Given the description of an element on the screen output the (x, y) to click on. 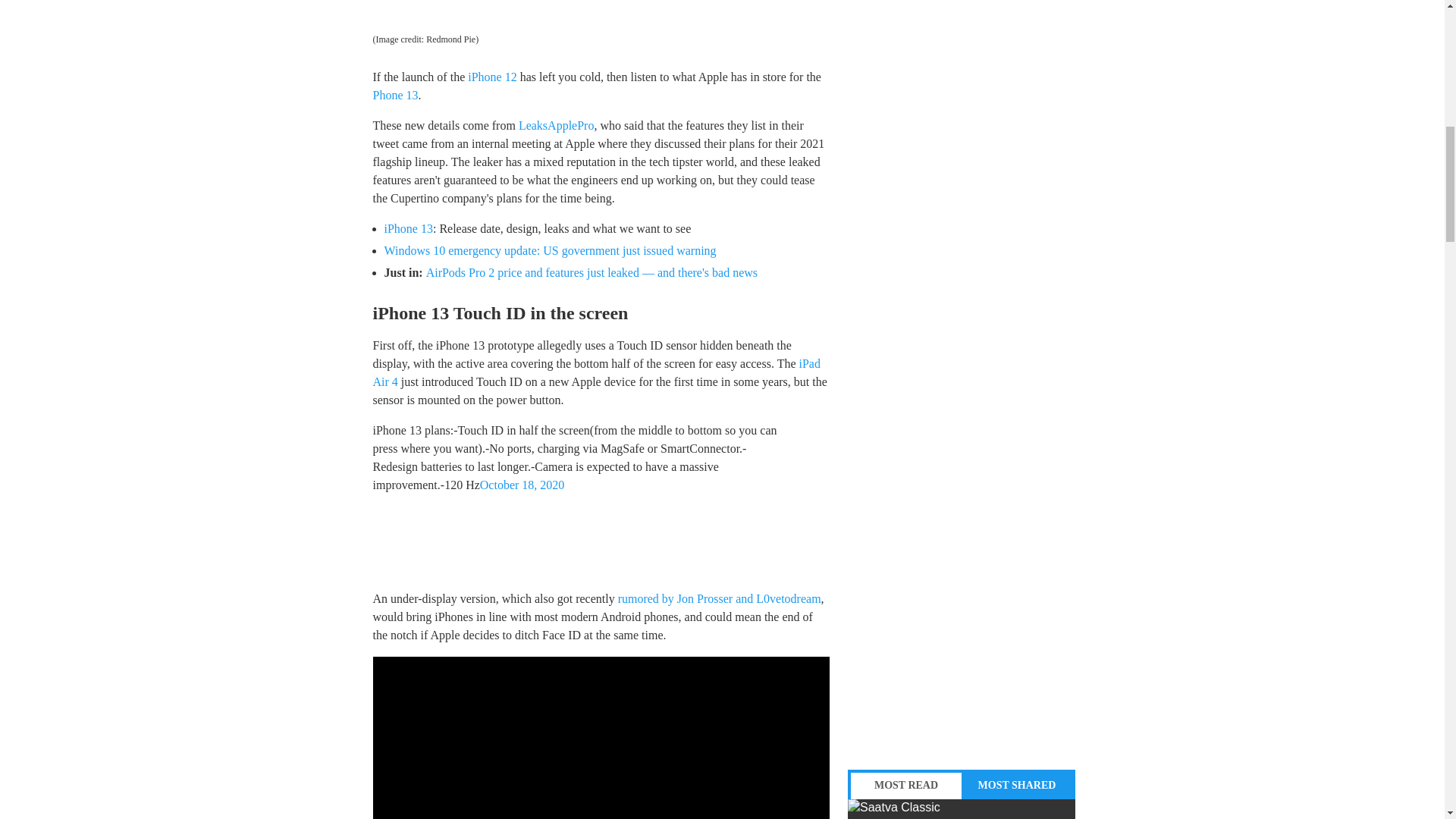
What is the best Saatva mattress for side sleepers? (961, 809)
